Given the description of an element on the screen output the (x, y) to click on. 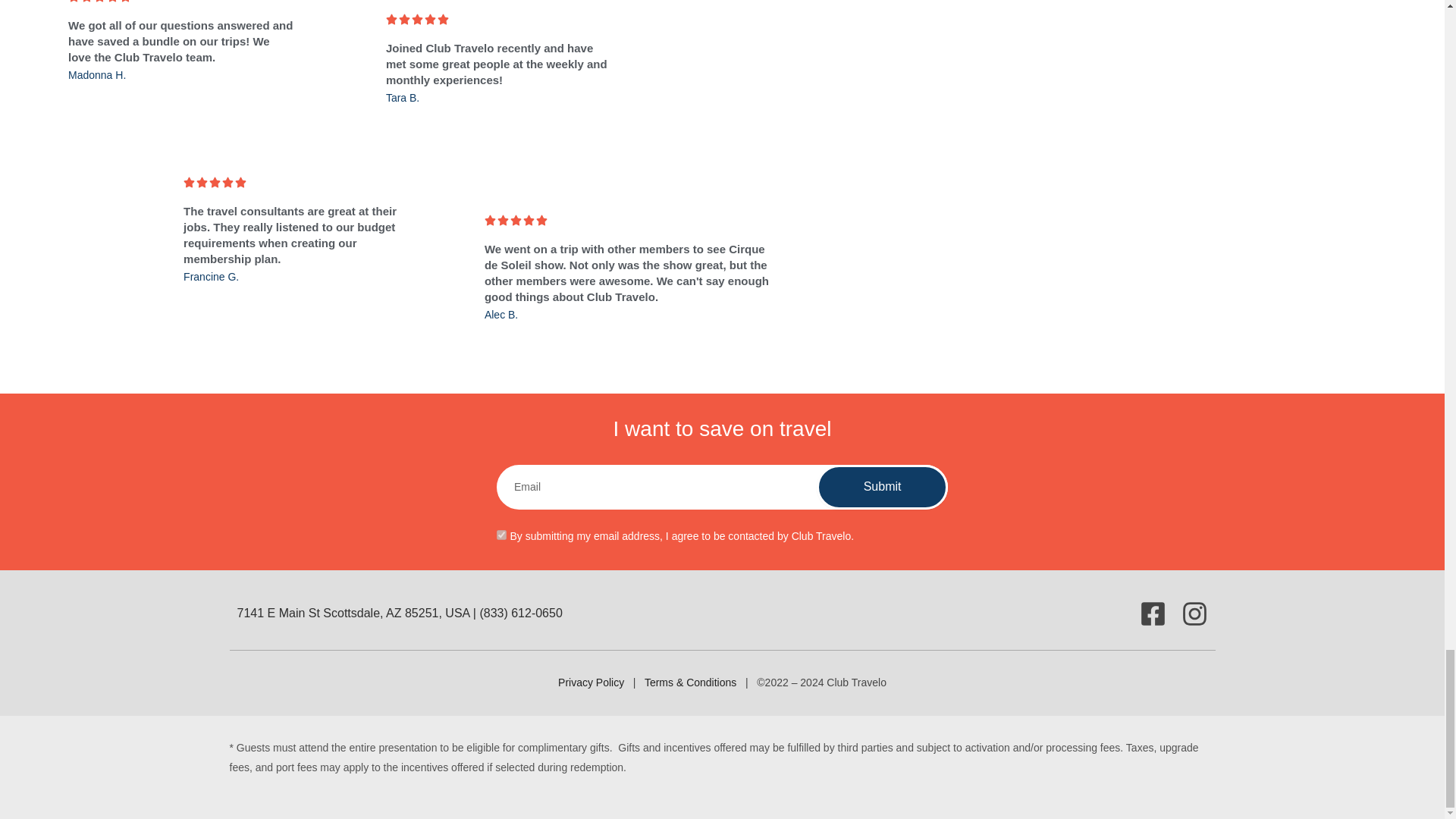
Submit (881, 487)
on (501, 534)
Instagram (1194, 613)
Facebook-square (1152, 613)
Privacy Policy  (592, 682)
